Given the description of an element on the screen output the (x, y) to click on. 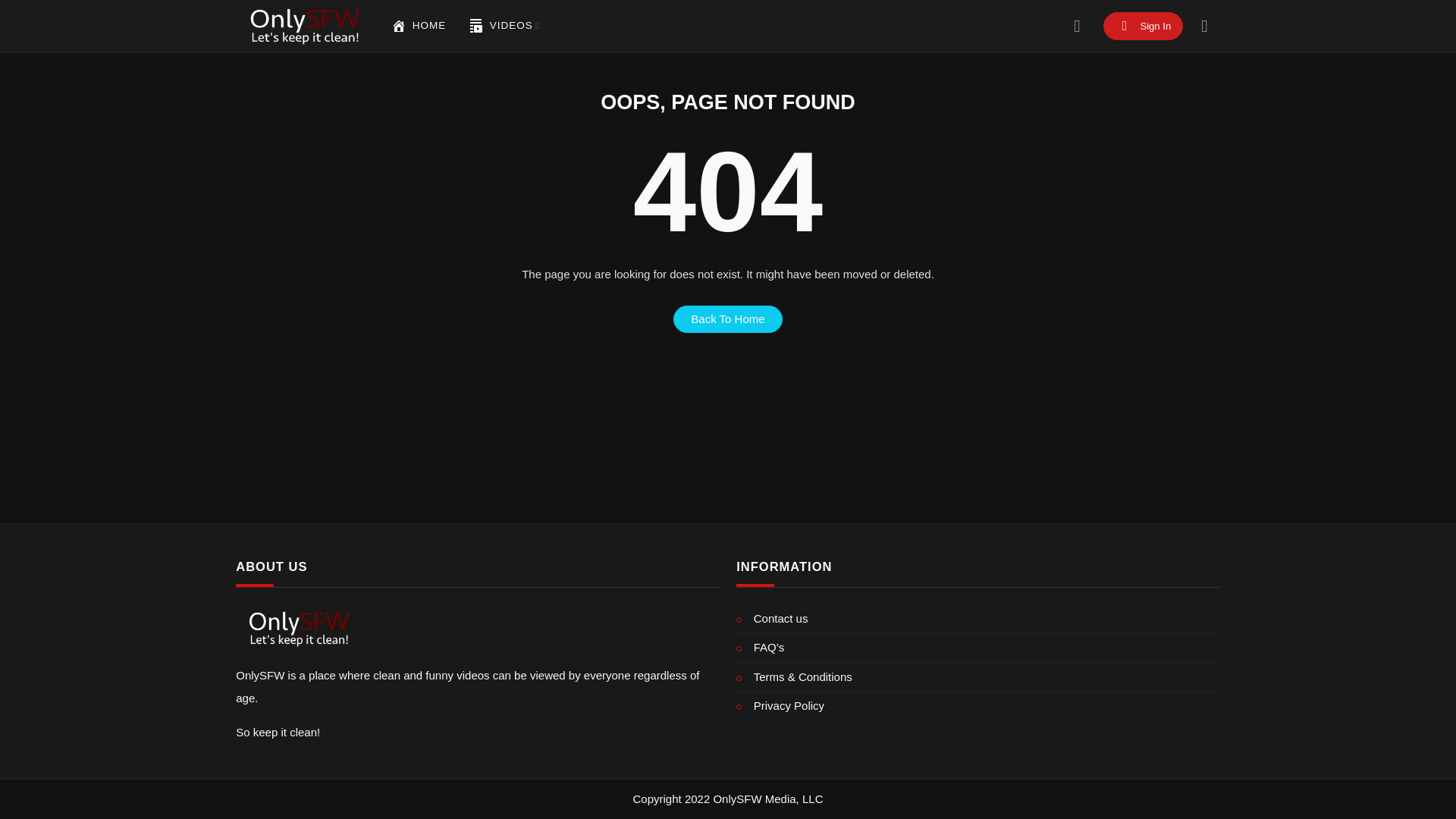
Back To Home (727, 318)
Videos (475, 25)
Videos (504, 25)
VIDEOS (504, 25)
Home (418, 25)
Contact us (978, 619)
Sign In (1143, 26)
Privacy Policy (978, 705)
Home (398, 25)
HOME (418, 25)
